Given the description of an element on the screen output the (x, y) to click on. 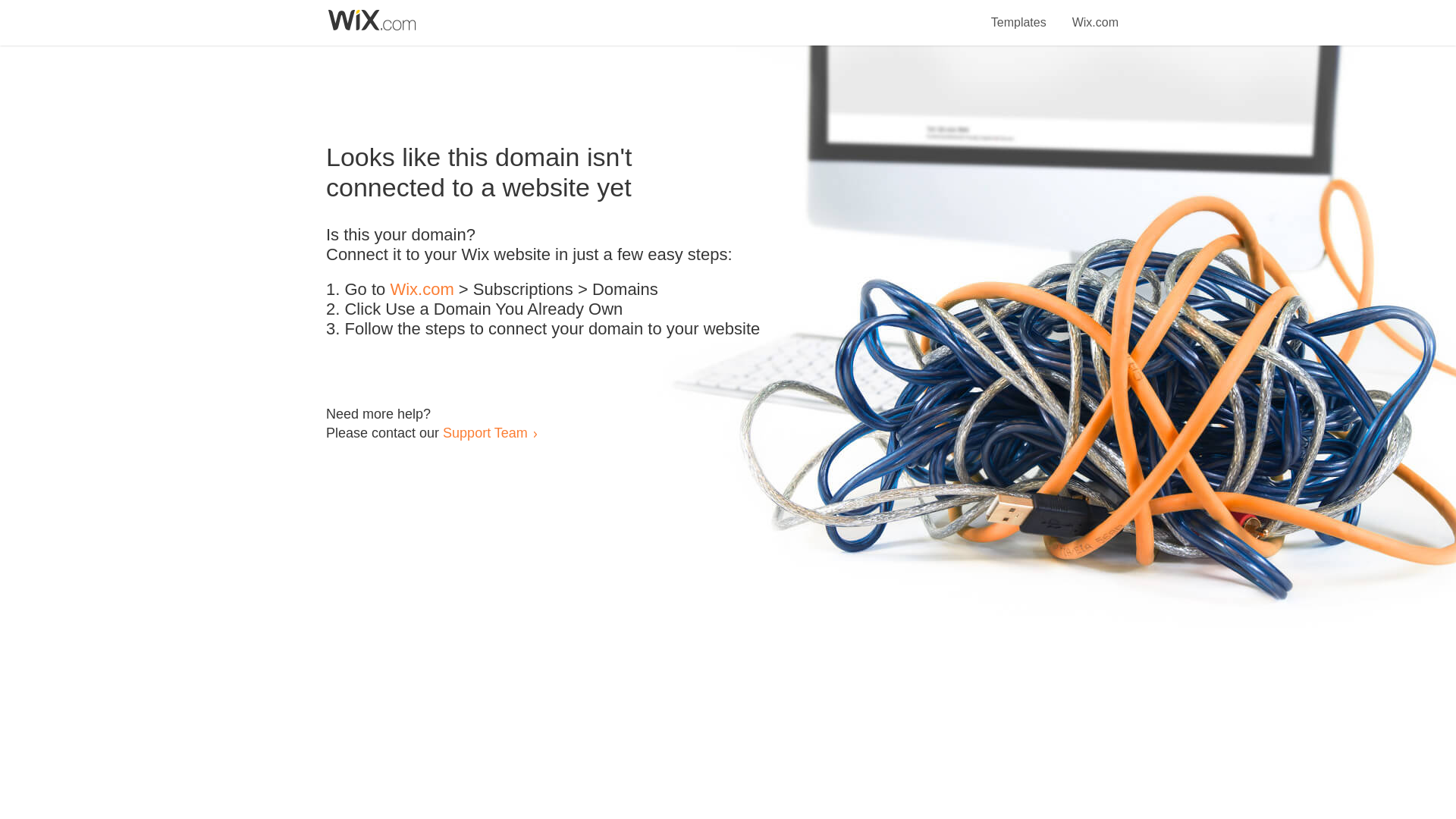
Wix.com (1095, 14)
Templates (1018, 14)
Support Team (484, 432)
Wix.com (421, 289)
